Given the description of an element on the screen output the (x, y) to click on. 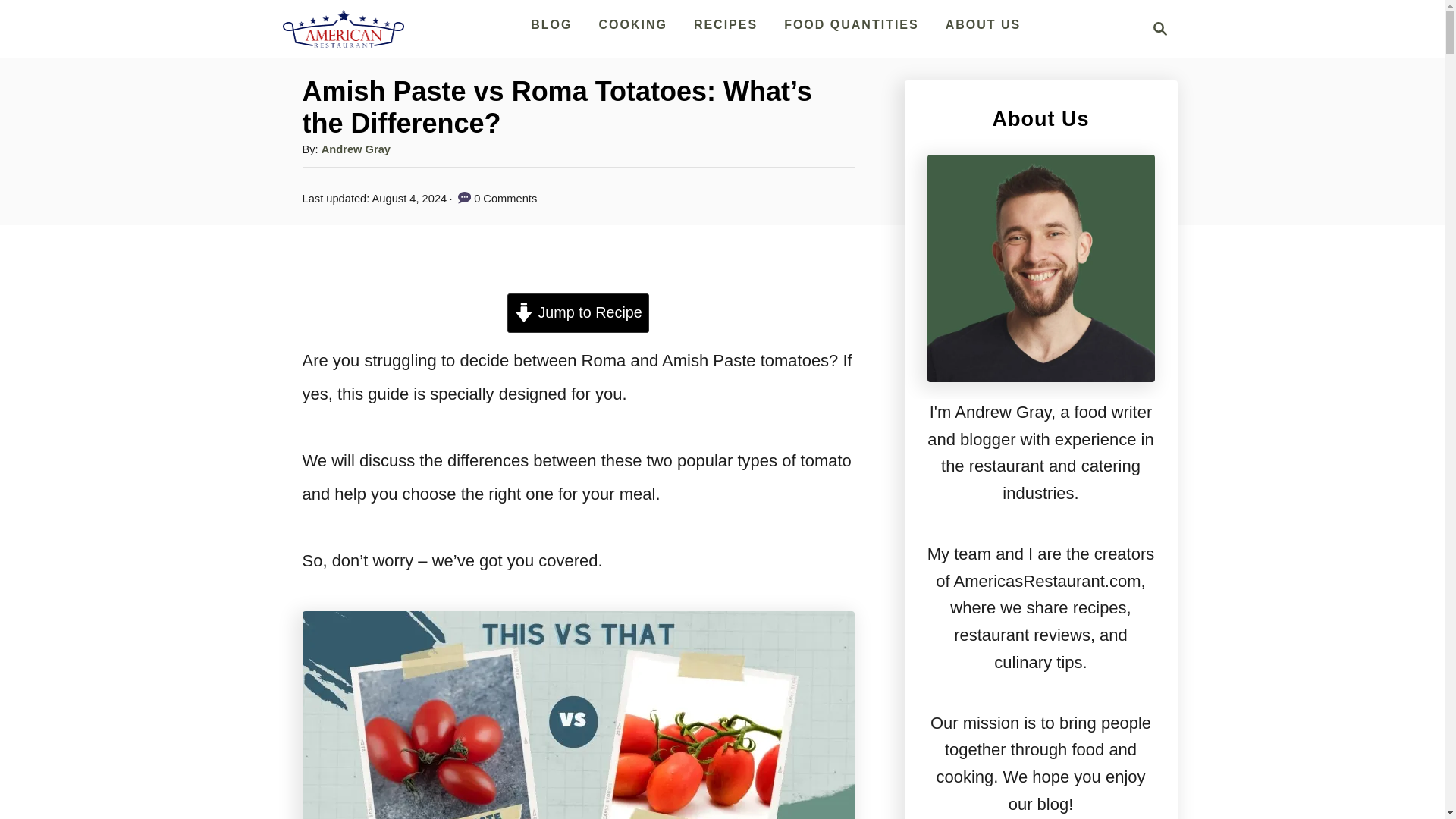
BLOG (550, 24)
Magnifying Glass (1160, 28)
COOKING (632, 24)
Jump to Recipe (577, 312)
FOOD QUANTITIES (851, 24)
ABOUT US (1155, 28)
RECIPES (983, 24)
Andrew Gray (725, 24)
